Given the description of an element on the screen output the (x, y) to click on. 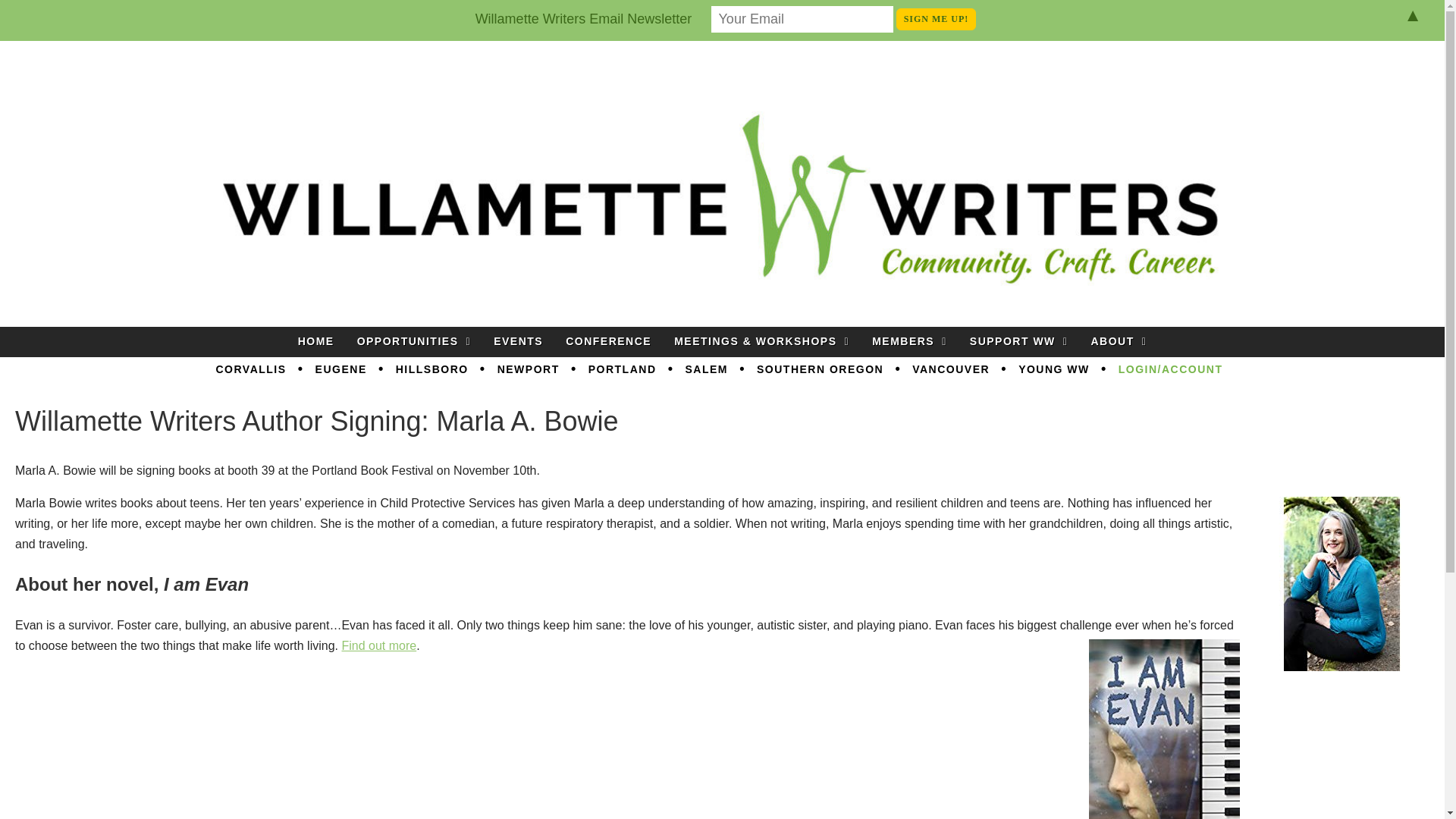
Sign me up! (936, 18)
Our Willamette Writers on the River Chapter in Corvallis (250, 370)
ABOUT (1117, 341)
NEWPORT (528, 370)
MEMBERS (909, 341)
Our Salem Chapter (706, 370)
Willamette Writers (152, 81)
Willamette Writers (152, 81)
CORVALLIS (250, 370)
OPPORTUNITIES (413, 341)
Skip to content (768, 335)
Our Portland Chapter (622, 370)
HILLSBORO (432, 370)
Our Southern Oregon Chapter in Central Point (820, 370)
